Given the description of an element on the screen output the (x, y) to click on. 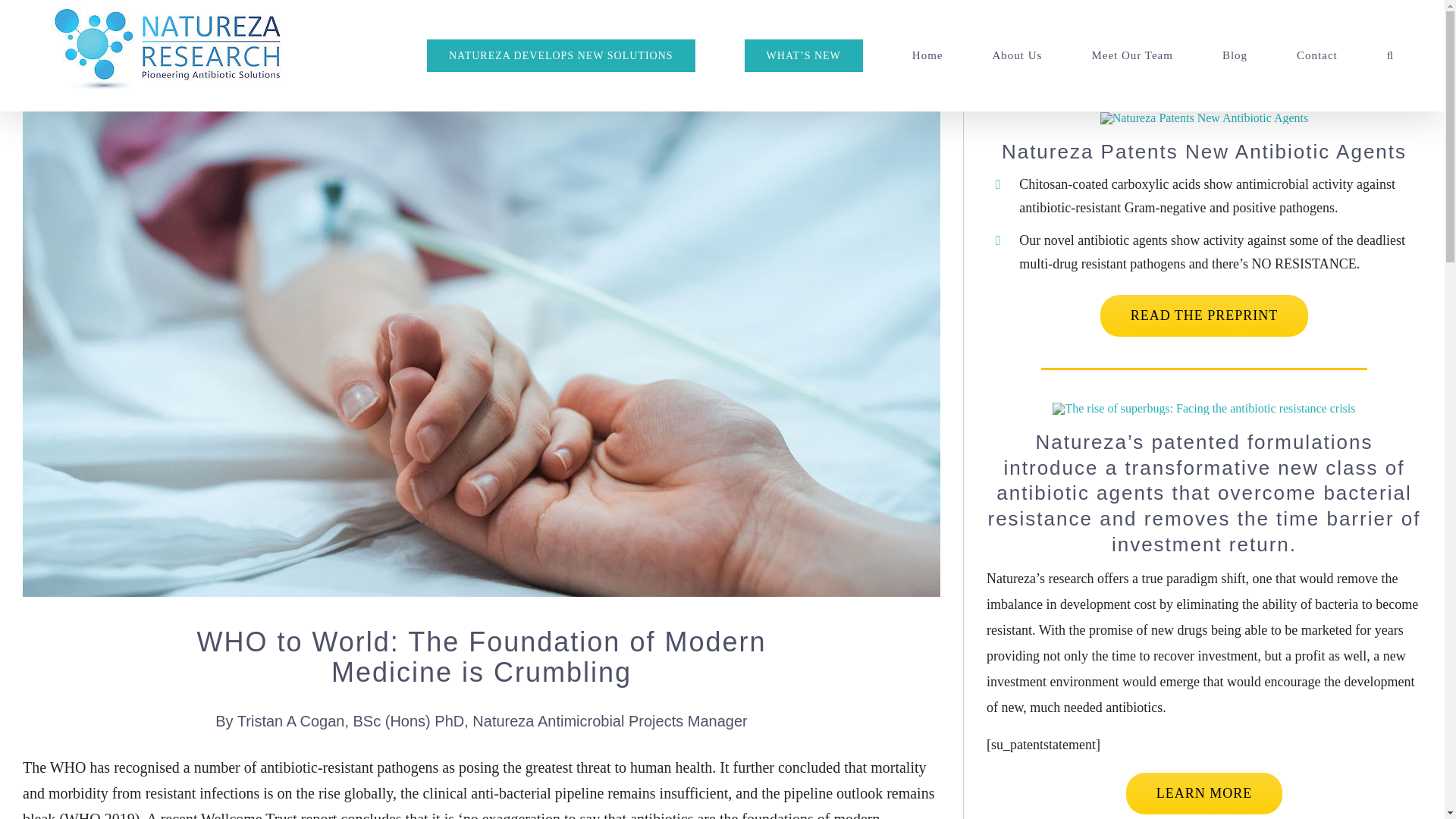
READ THE PREPRINT (1204, 315)
NATUREZA DEVELOPS NEW SOLUTIONS (560, 55)
LEARN MORE (1203, 793)
